Given the description of an element on the screen output the (x, y) to click on. 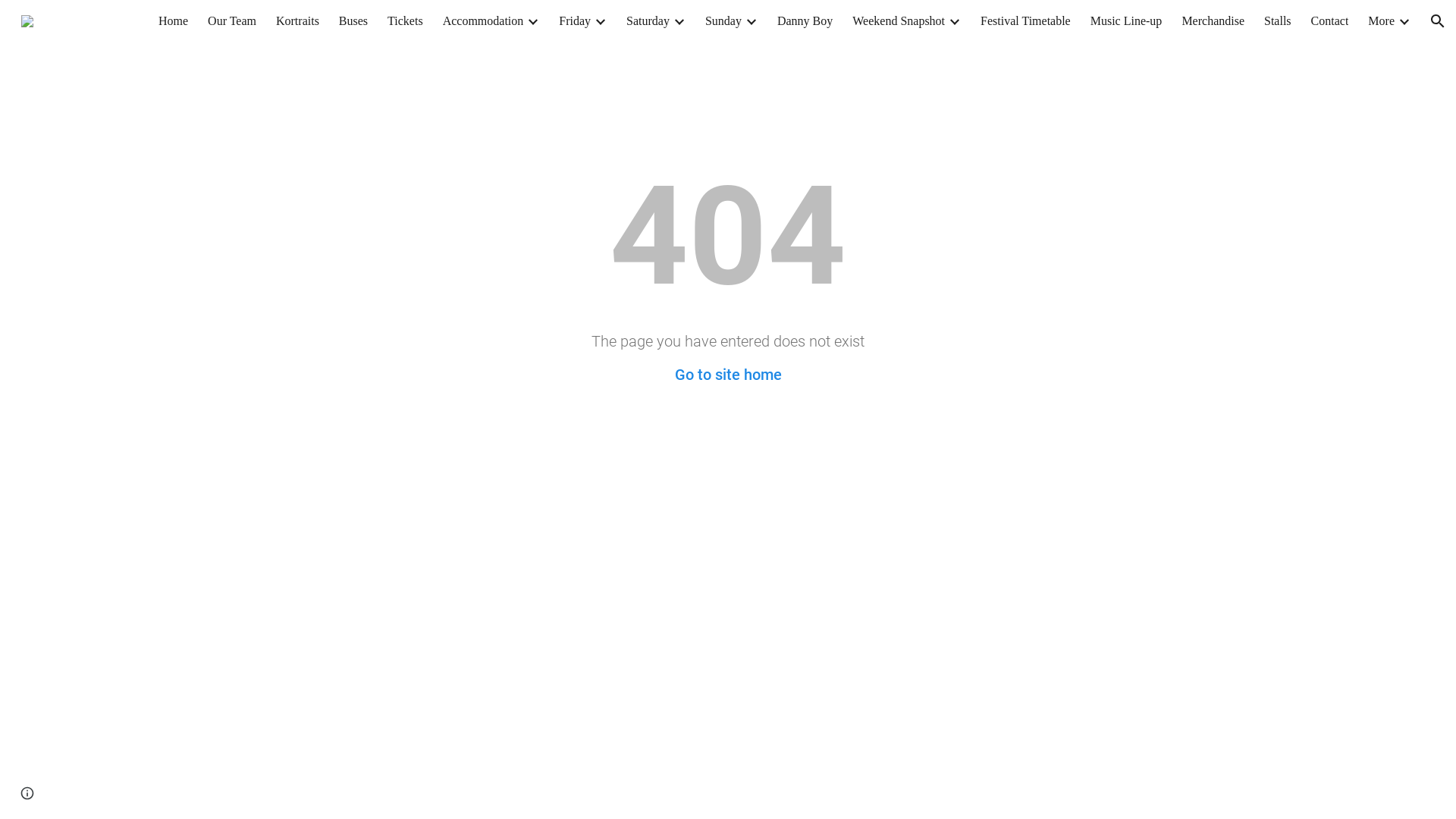
Contact Element type: text (1330, 21)
Friday Element type: text (574, 21)
Home Element type: text (173, 21)
Kortraits Element type: text (297, 21)
Expand/Collapse Element type: hover (1403, 21)
Expand/Collapse Element type: hover (599, 21)
Music Line-up Element type: text (1126, 21)
Go to site home Element type: text (727, 374)
Saturday Element type: text (647, 21)
Expand/Collapse Element type: hover (678, 21)
Buses Element type: text (352, 21)
Our Team Element type: text (231, 21)
Accommodation Element type: text (483, 21)
Merchandise Element type: text (1212, 21)
Expand/Collapse Element type: hover (953, 21)
Tickets Element type: text (405, 21)
More Element type: text (1381, 21)
Sunday Element type: text (723, 21)
Expand/Collapse Element type: hover (750, 21)
Danny Boy Element type: text (804, 21)
Expand/Collapse Element type: hover (532, 21)
Weekend Snapshot Element type: text (898, 21)
Festival Timetable Element type: text (1025, 21)
Stalls Element type: text (1277, 21)
